Given the description of an element on the screen output the (x, y) to click on. 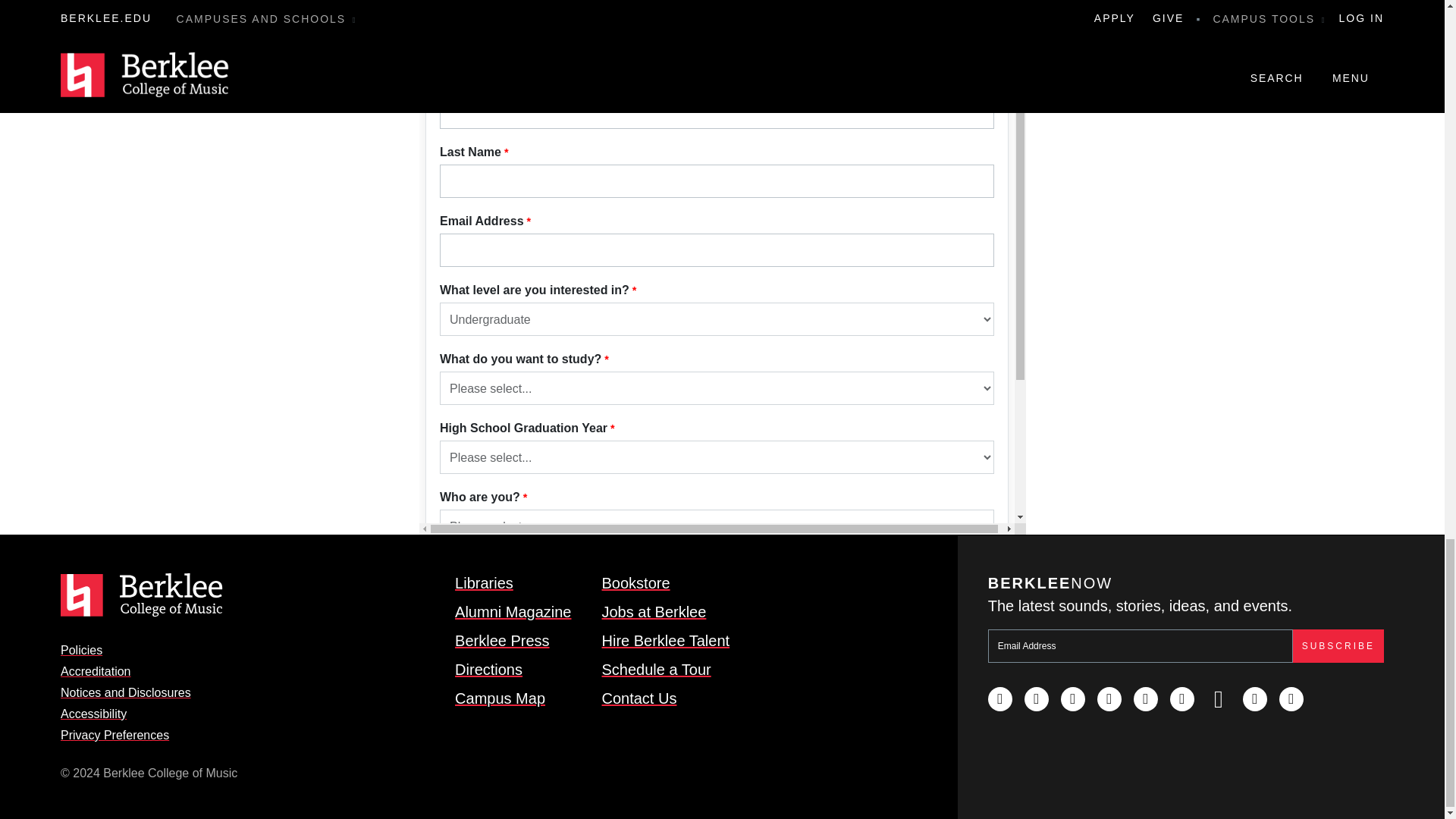
Subscribe (1338, 645)
